Given the description of an element on the screen output the (x, y) to click on. 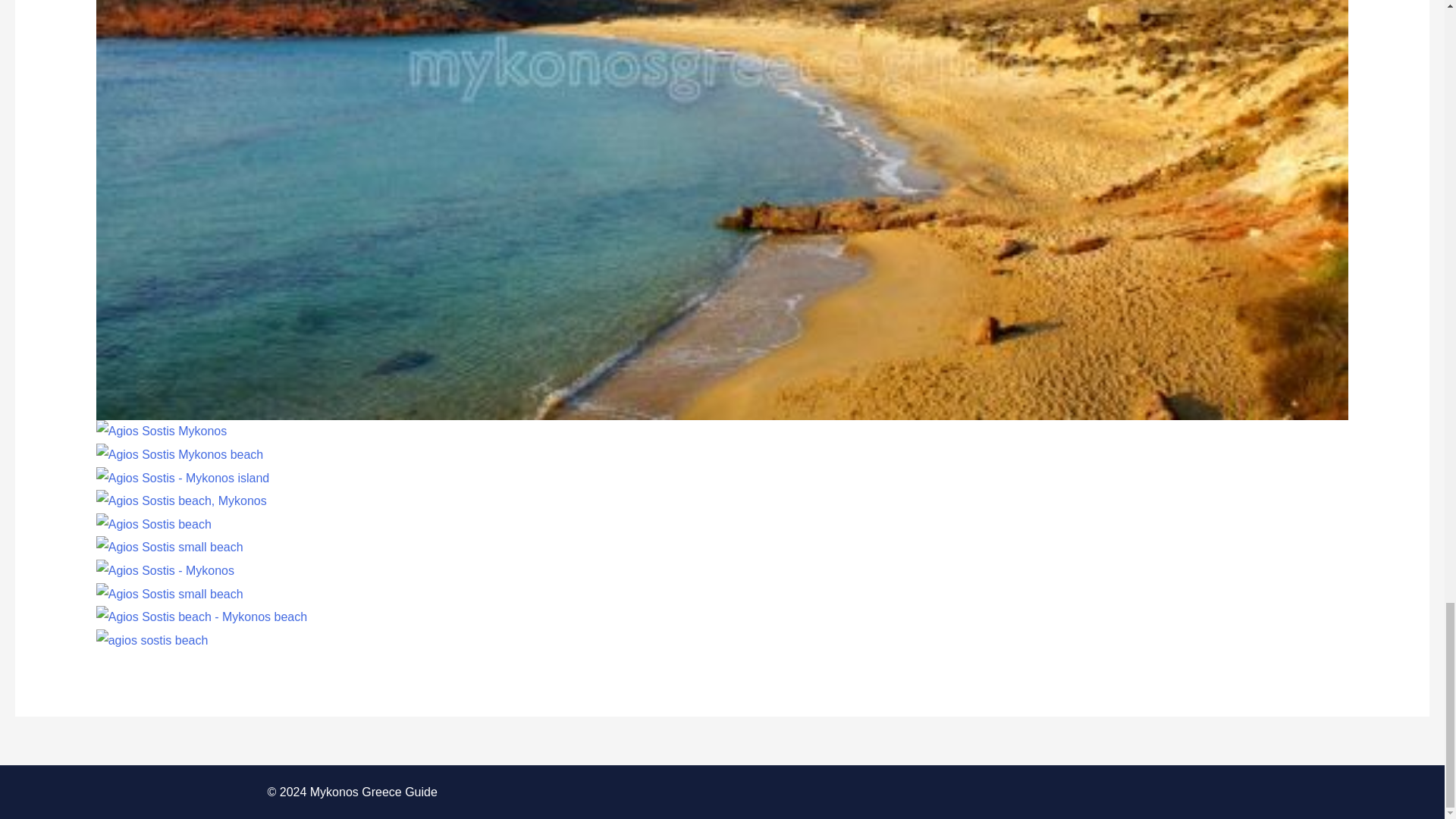
Agios Sostis - Mykonos (165, 569)
Agios Sostis beach (153, 522)
Agios Sostis small beach (169, 593)
Agios Sostis Mykonos (161, 431)
Agios Sostis small beach (169, 546)
Agios Sostis Mykonos beach (179, 453)
Agios Sostis - Mykonos island (182, 477)
Agios Sostis beach, Mykonos (181, 499)
